Given the description of an element on the screen output the (x, y) to click on. 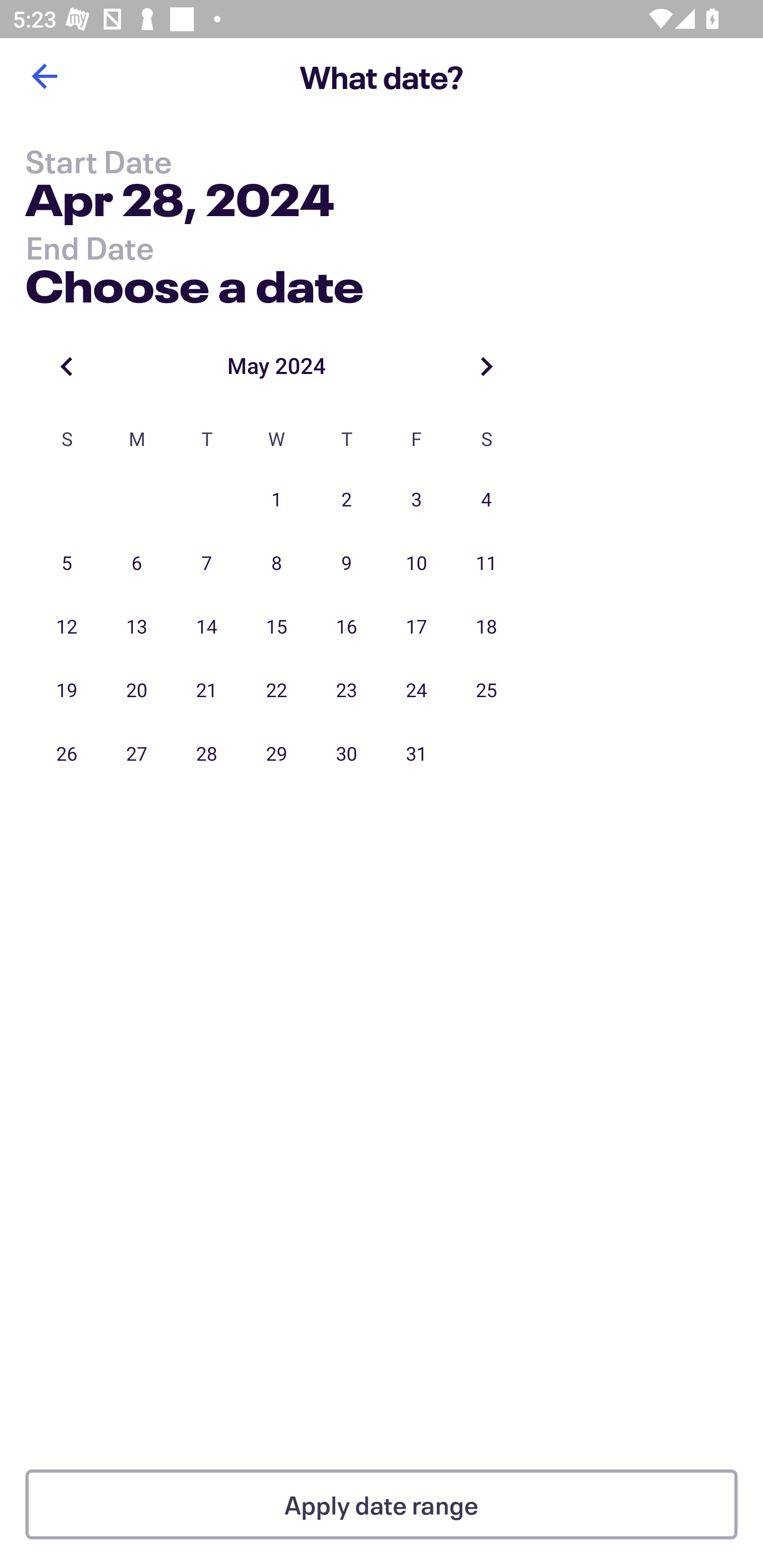
Back button (44, 75)
Apr 28, 2024 (179, 203)
Choose a date (194, 282)
Previous month (66, 365)
Next month (486, 365)
1 01 May 2024 (276, 499)
2 02 May 2024 (346, 499)
3 03 May 2024 (416, 499)
4 04 May 2024 (486, 499)
5 05 May 2024 (66, 563)
6 06 May 2024 (136, 563)
7 07 May 2024 (206, 563)
8 08 May 2024 (276, 563)
9 09 May 2024 (346, 563)
10 10 May 2024 (416, 563)
11 11 May 2024 (486, 563)
12 12 May 2024 (66, 626)
13 13 May 2024 (136, 626)
14 14 May 2024 (206, 626)
15 15 May 2024 (276, 626)
16 16 May 2024 (346, 626)
17 17 May 2024 (416, 626)
18 18 May 2024 (486, 626)
19 19 May 2024 (66, 690)
20 20 May 2024 (136, 690)
21 21 May 2024 (206, 690)
22 22 May 2024 (276, 690)
23 23 May 2024 (346, 690)
24 24 May 2024 (416, 690)
25 25 May 2024 (486, 690)
26 26 May 2024 (66, 753)
27 27 May 2024 (136, 753)
28 28 May 2024 (206, 753)
29 29 May 2024 (276, 753)
30 30 May 2024 (346, 753)
31 31 May 2024 (416, 753)
Apply date range (381, 1504)
